Given the description of an element on the screen output the (x, y) to click on. 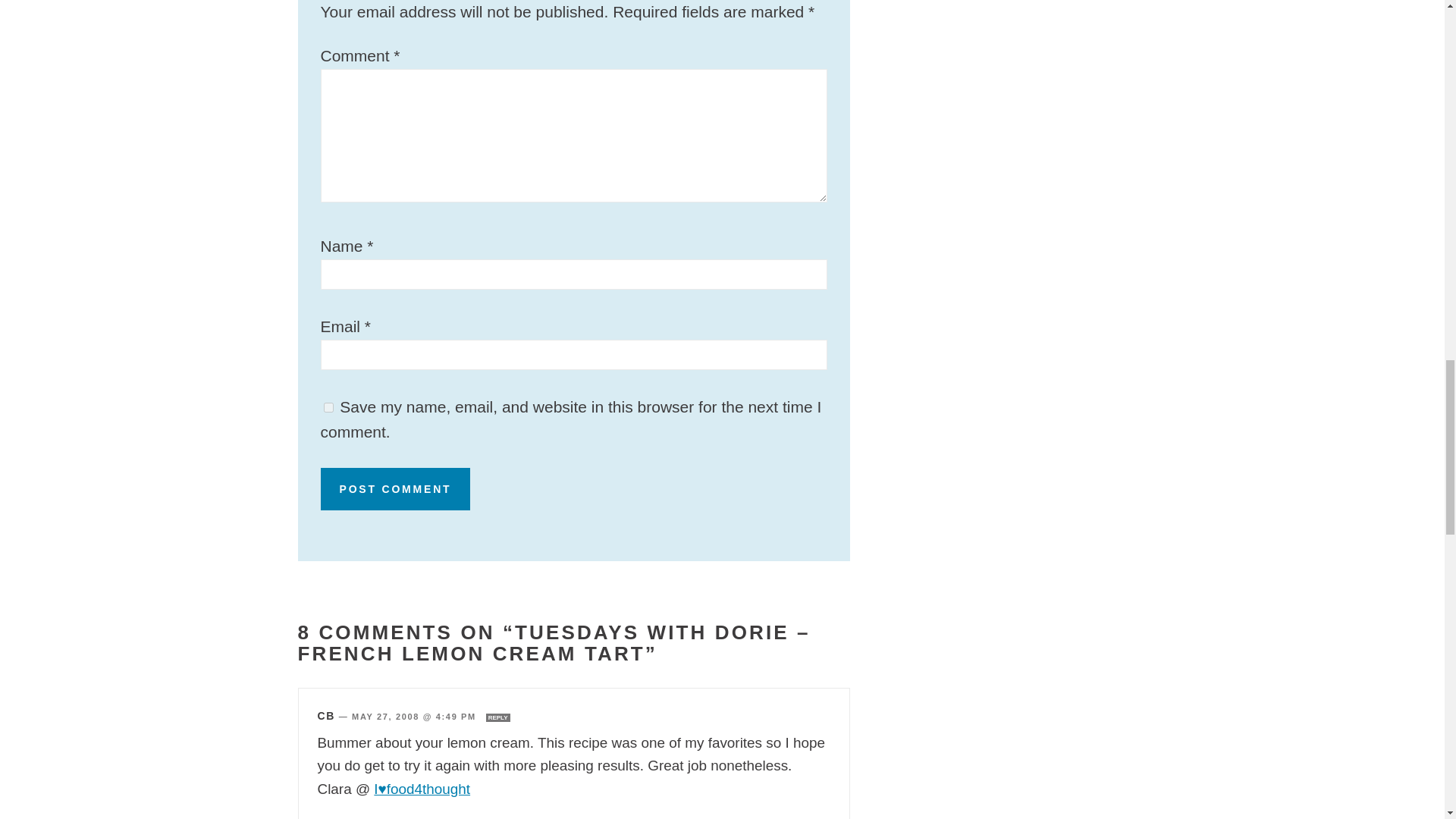
yes (328, 407)
Post Comment (395, 488)
